Given the description of an element on the screen output the (x, y) to click on. 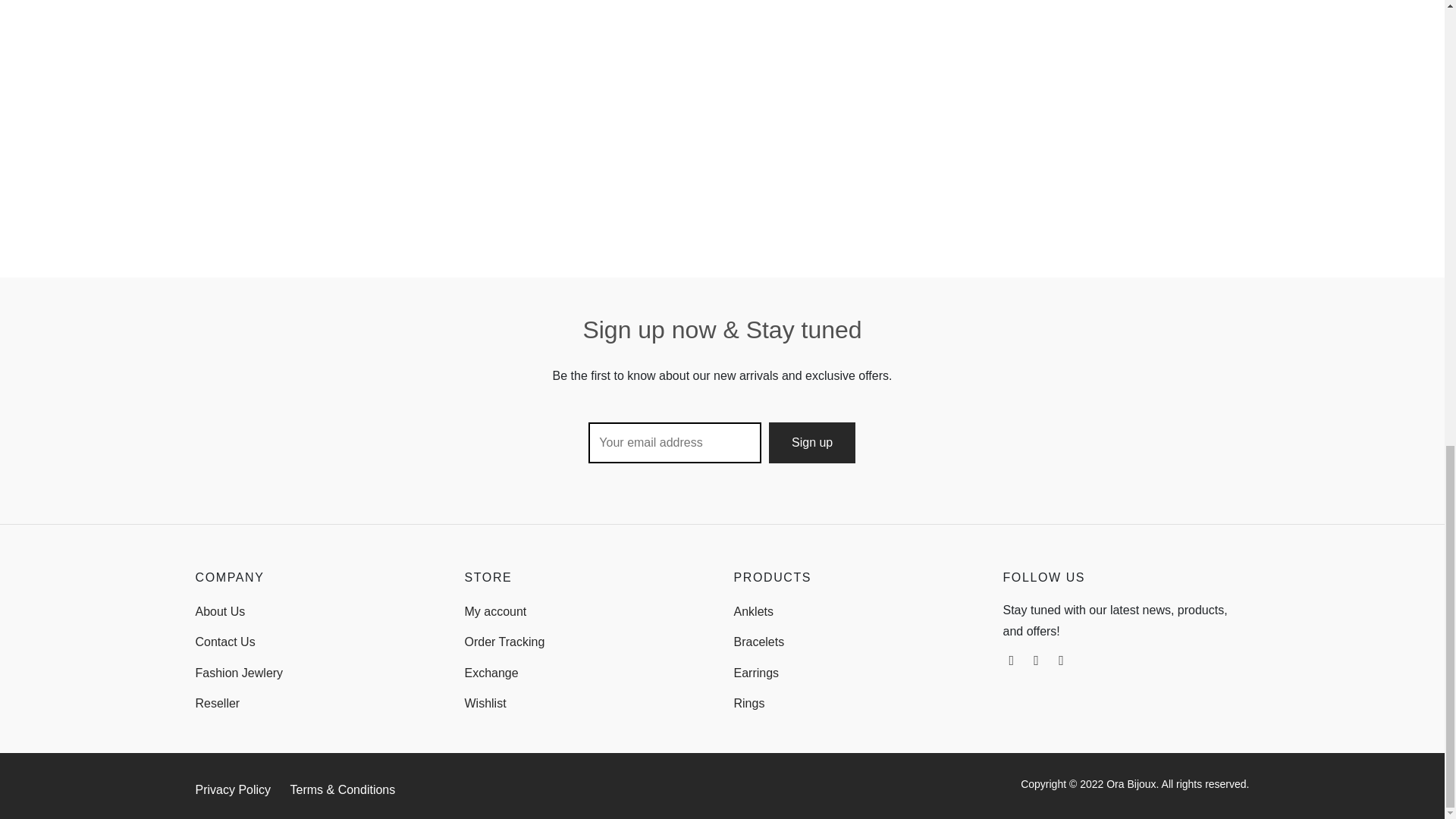
Sign up (812, 442)
